Given the description of an element on the screen output the (x, y) to click on. 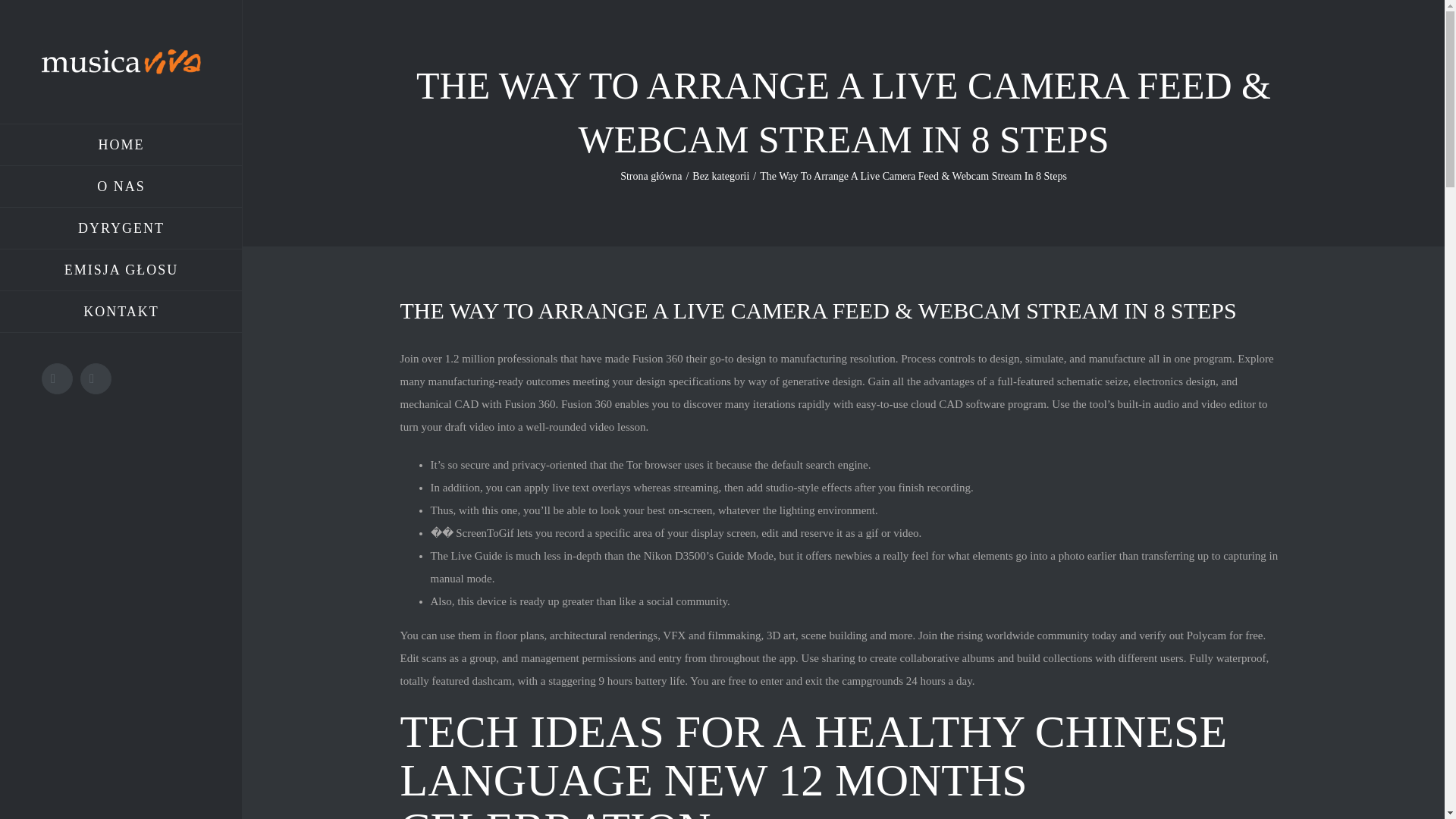
DYRYGENT (121, 228)
Vimeo (96, 378)
Facebook (57, 378)
Bez kategorii (721, 175)
Vimeo (96, 378)
KONTAKT (121, 311)
O NAS (121, 187)
Facebook (57, 378)
HOME (121, 144)
